Given the description of an element on the screen output the (x, y) to click on. 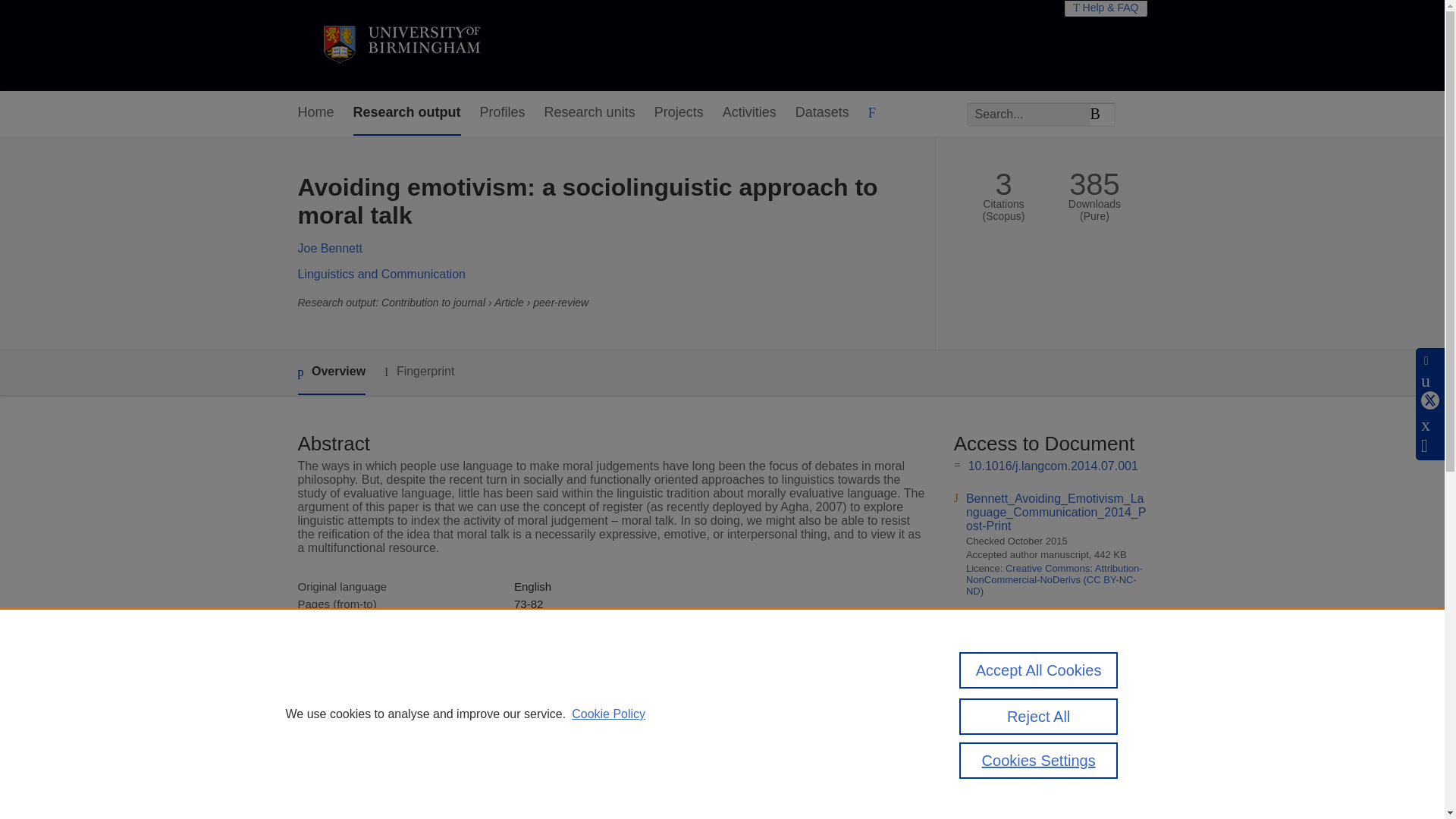
Projects (678, 112)
Research output (407, 112)
Activities (749, 112)
Datasets (821, 112)
Profiles (502, 112)
University of Birmingham Home (401, 45)
Joe Bennett (329, 247)
Overview (331, 372)
Linguistics and Communication (380, 273)
Fingerprint (419, 371)
